Given the description of an element on the screen output the (x, y) to click on. 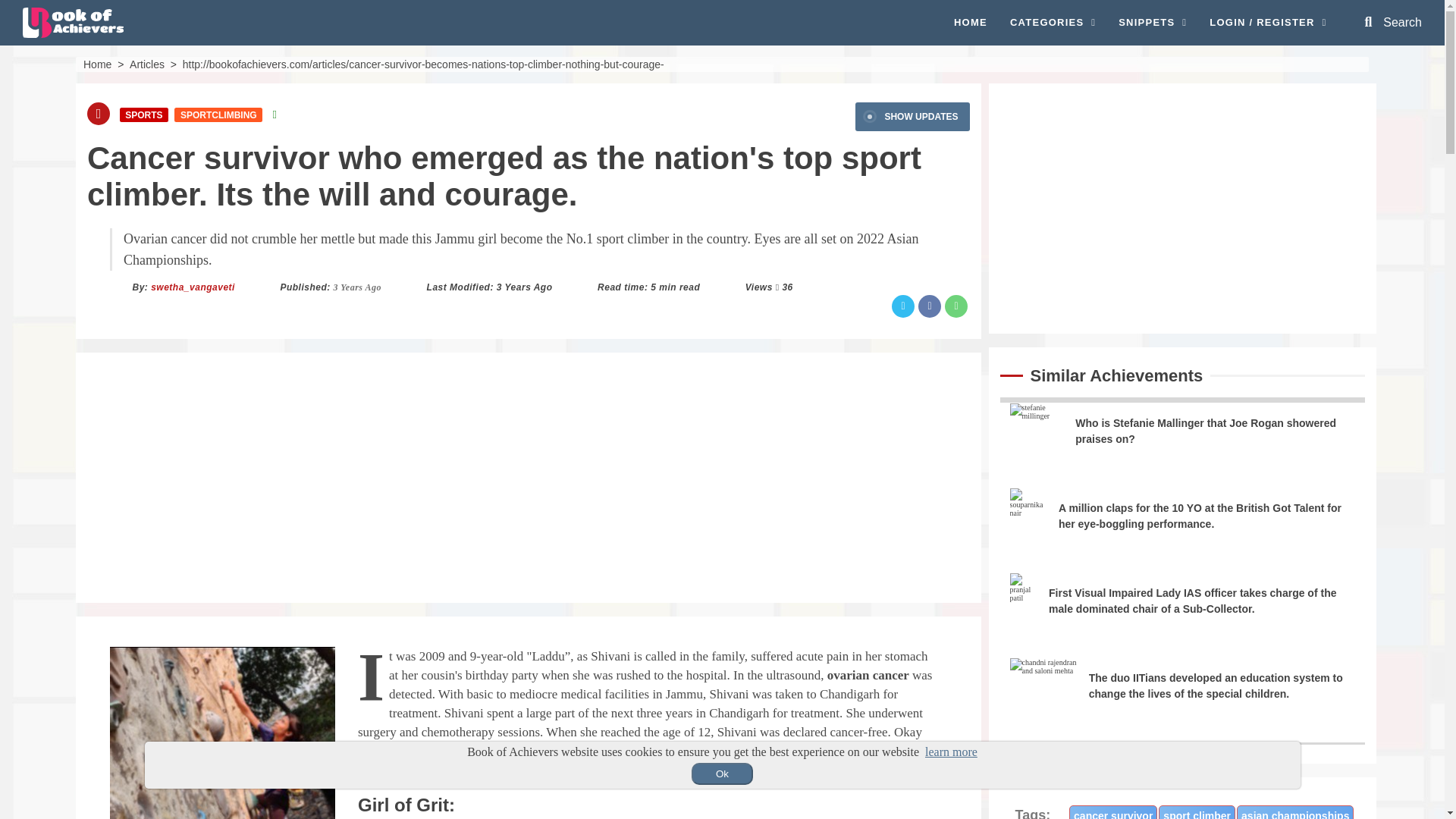
Share on Twitter (902, 305)
Share on Whatsapp (956, 305)
Article Views: 36 (786, 286)
shivani charak (222, 732)
CATEGORIES   (1053, 22)
SPORTS (143, 114)
SNIPPETS   (1152, 22)
Articles (146, 63)
Share on Facebook (929, 305)
SPORTCLIMBING (218, 114)
